Given the description of an element on the screen output the (x, y) to click on. 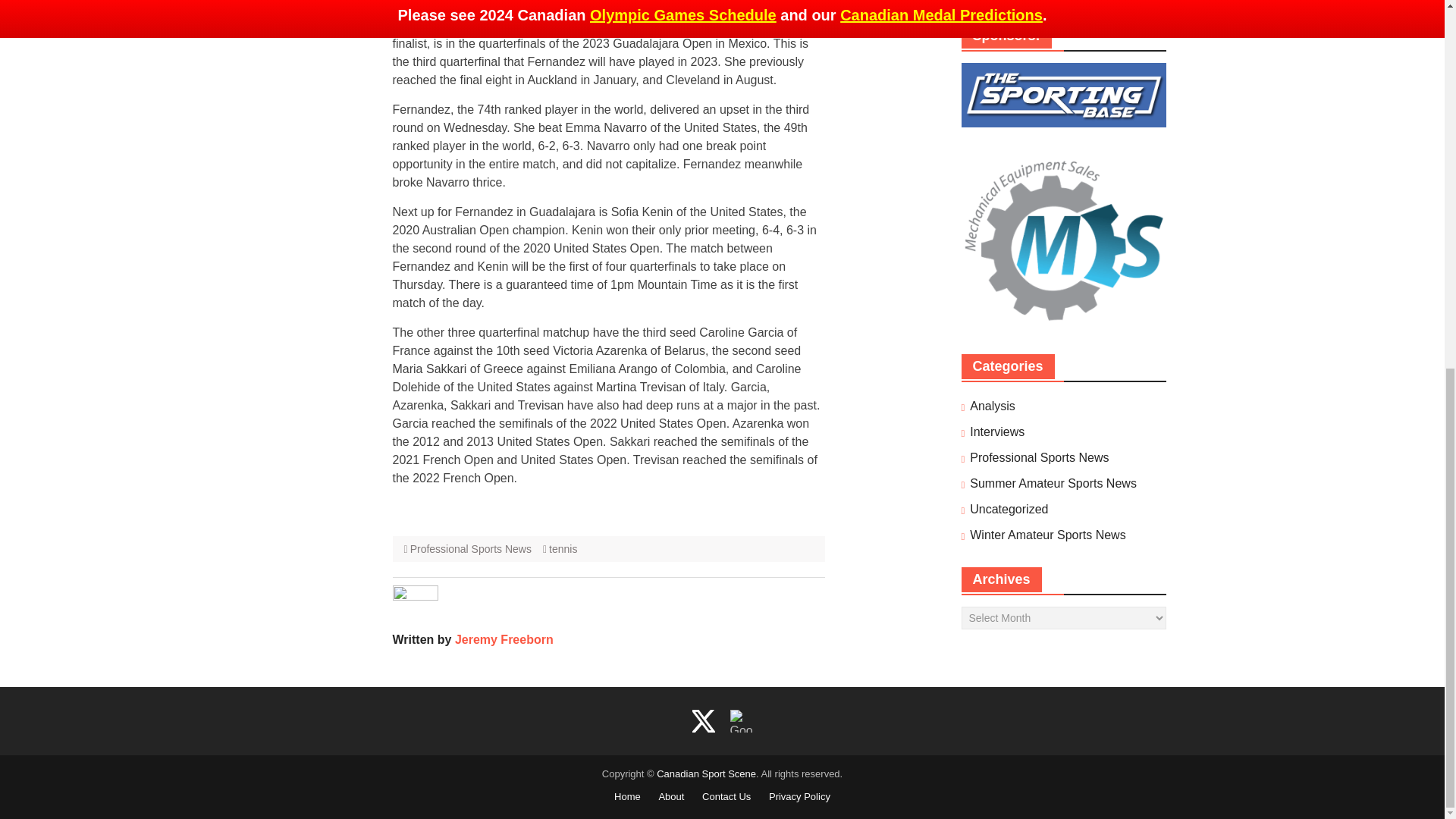
Summer Amateur Sports News (1053, 484)
Jeremy Freeborn (503, 639)
Winter Amateur Sports News (1047, 535)
Analysis (991, 406)
Interviews (997, 432)
Uncategorized (1008, 509)
Professional Sports News (470, 548)
tennis (562, 548)
Posts by Jeremy Freeborn (503, 639)
Canadian Sport Scene (705, 773)
Professional Sports News (1038, 457)
